Given the description of an element on the screen output the (x, y) to click on. 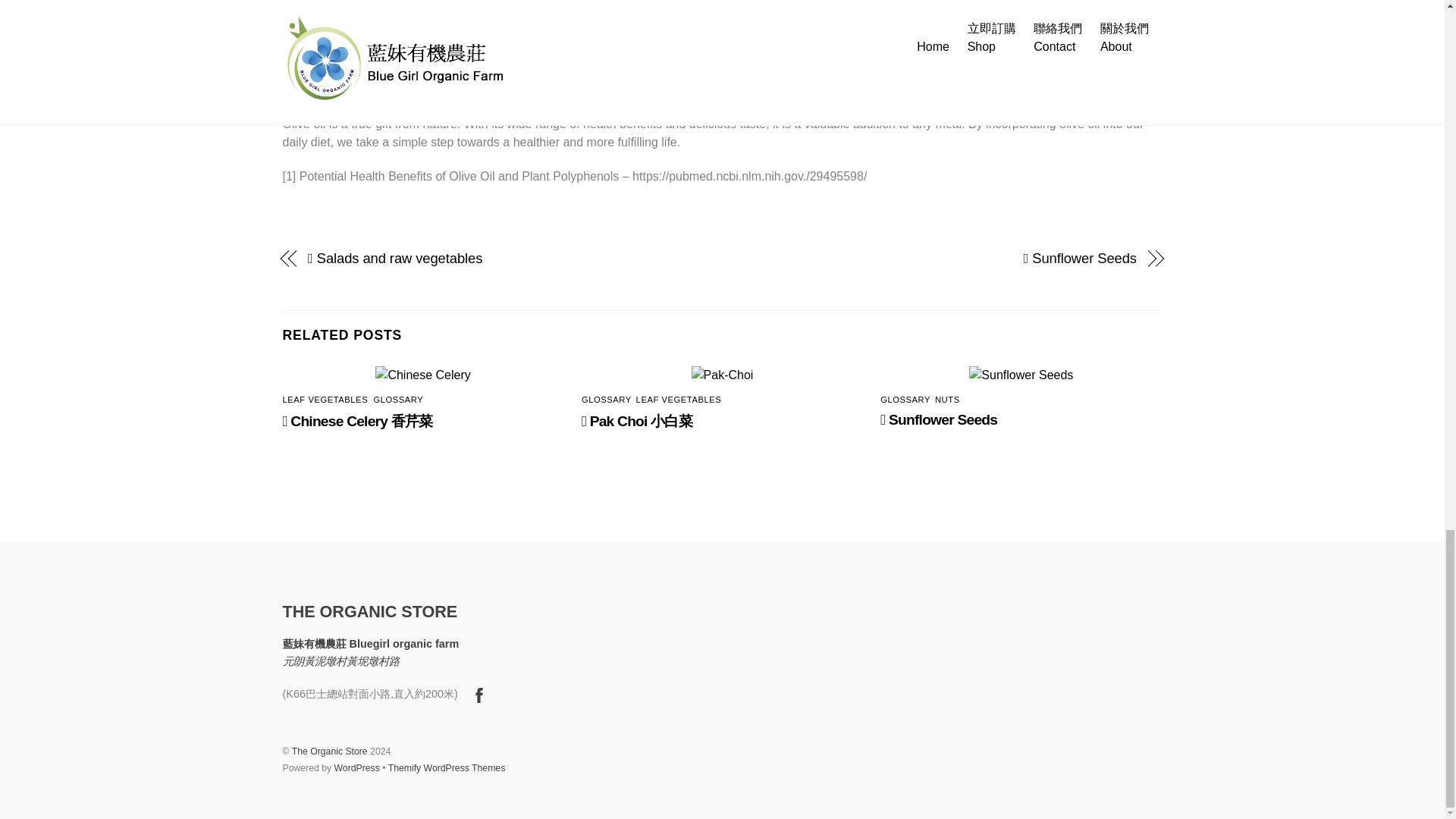
The Organic Store (369, 610)
WordPress (357, 767)
1 (426, 2)
Sunflower Seeds (1021, 374)
The Organic Store (330, 751)
Chinese Celery (422, 374)
LEAF VEGETABLES (325, 399)
THE ORGANIC STORE (369, 610)
Themify WordPress Themes (446, 767)
GLOSSARY (397, 399)
